Given the description of an element on the screen output the (x, y) to click on. 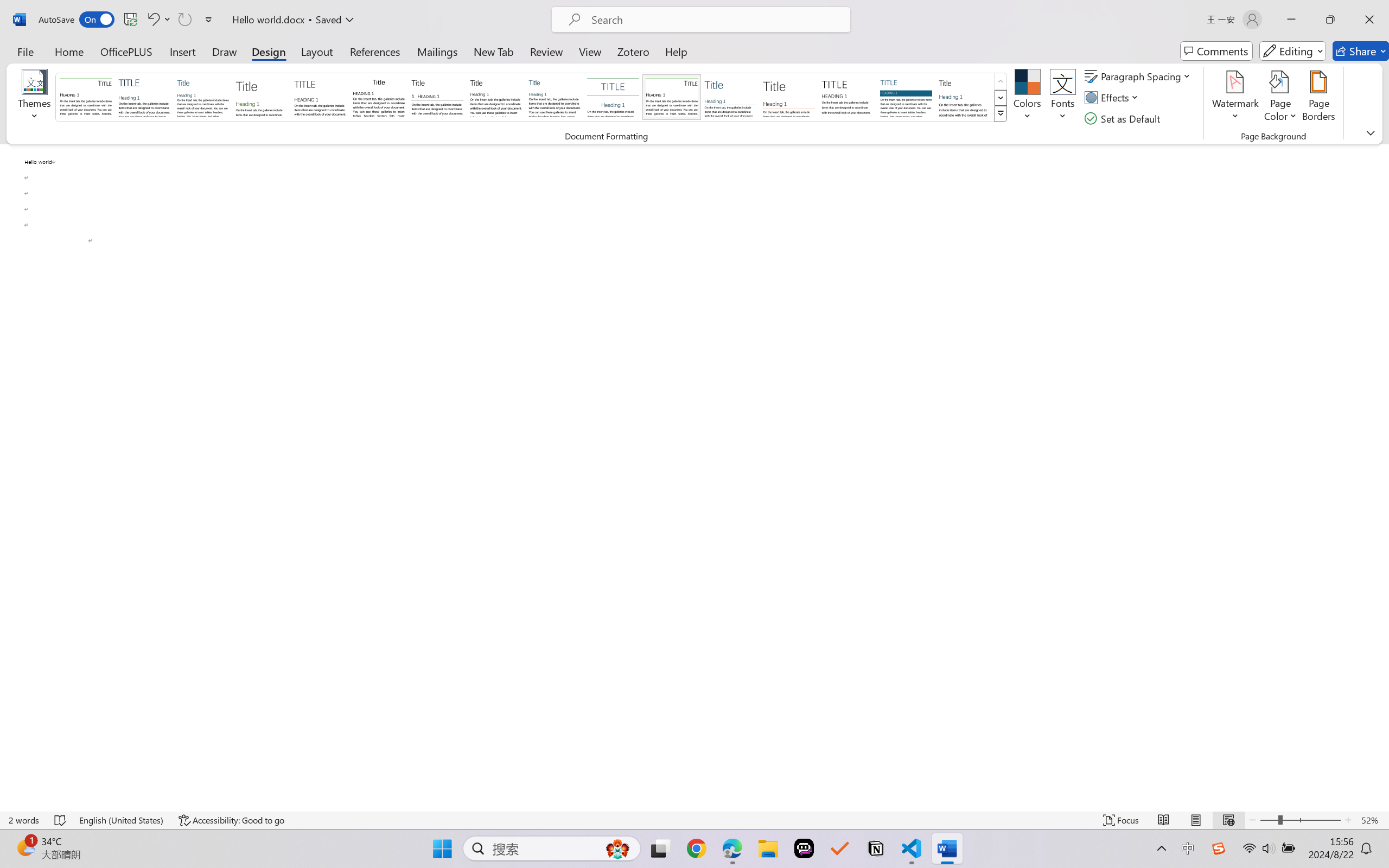
OfficePLUS (126, 51)
Basic (Stylish) (260, 96)
New Tab (493, 51)
AutomationID: QuickStylesSets (531, 97)
Effects (1113, 97)
Zotero (632, 51)
Colors (1027, 97)
Zoom In (1348, 819)
Design (268, 51)
